Given the description of an element on the screen output the (x, y) to click on. 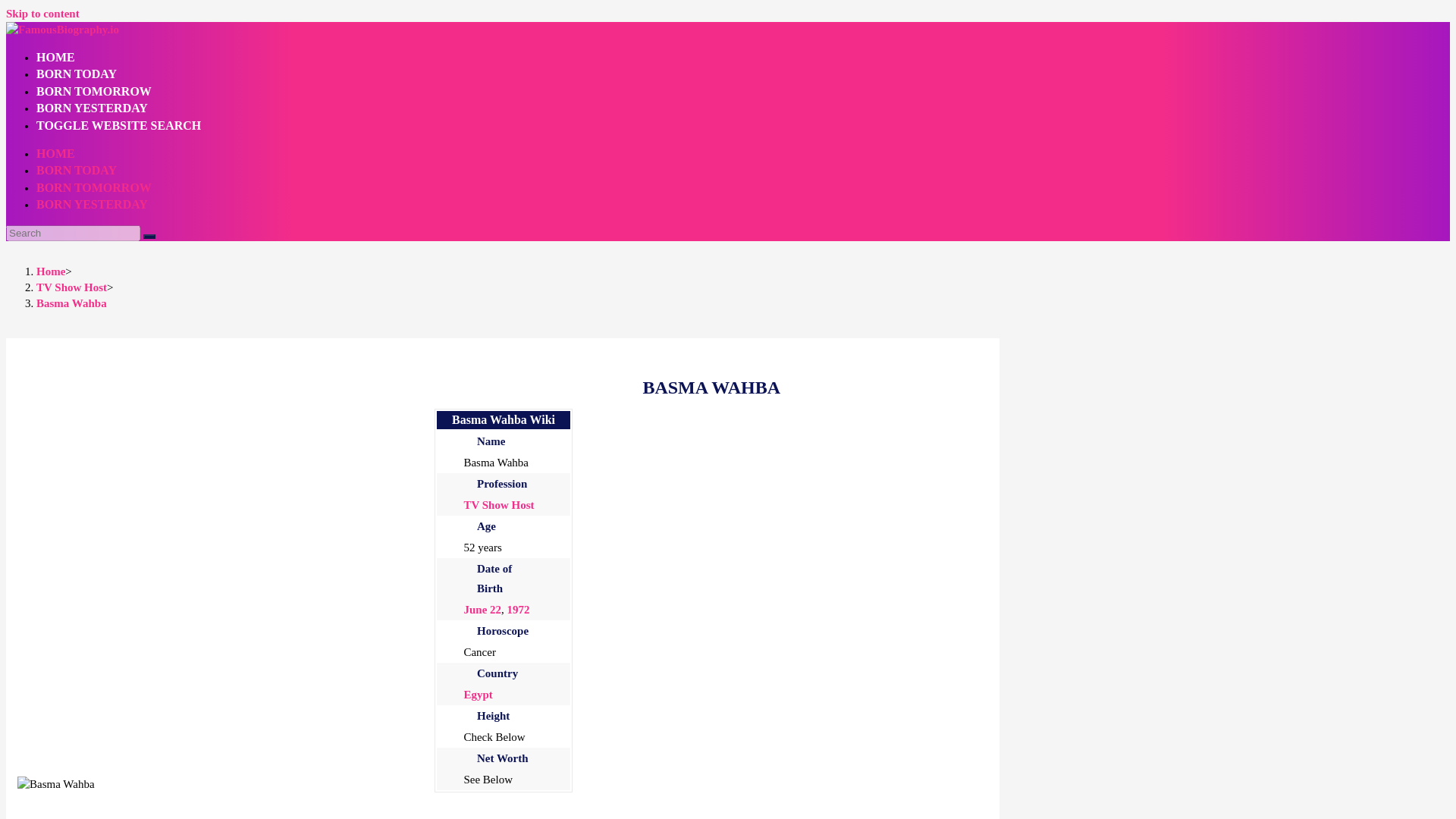
TOGGLE WEBSITE SEARCH (118, 124)
Basma Wahba (71, 303)
June 22 (481, 609)
HOME (55, 56)
BORN TODAY (76, 169)
BORN TOMORROW (93, 187)
Home (50, 271)
TV Show Host (71, 287)
BORN TOMORROW (93, 91)
TV Show Host (498, 504)
Egypt (477, 694)
1972 (517, 609)
Skip to content (42, 13)
BORN YESTERDAY (92, 107)
Basma Wahba (55, 784)
